Given the description of an element on the screen output the (x, y) to click on. 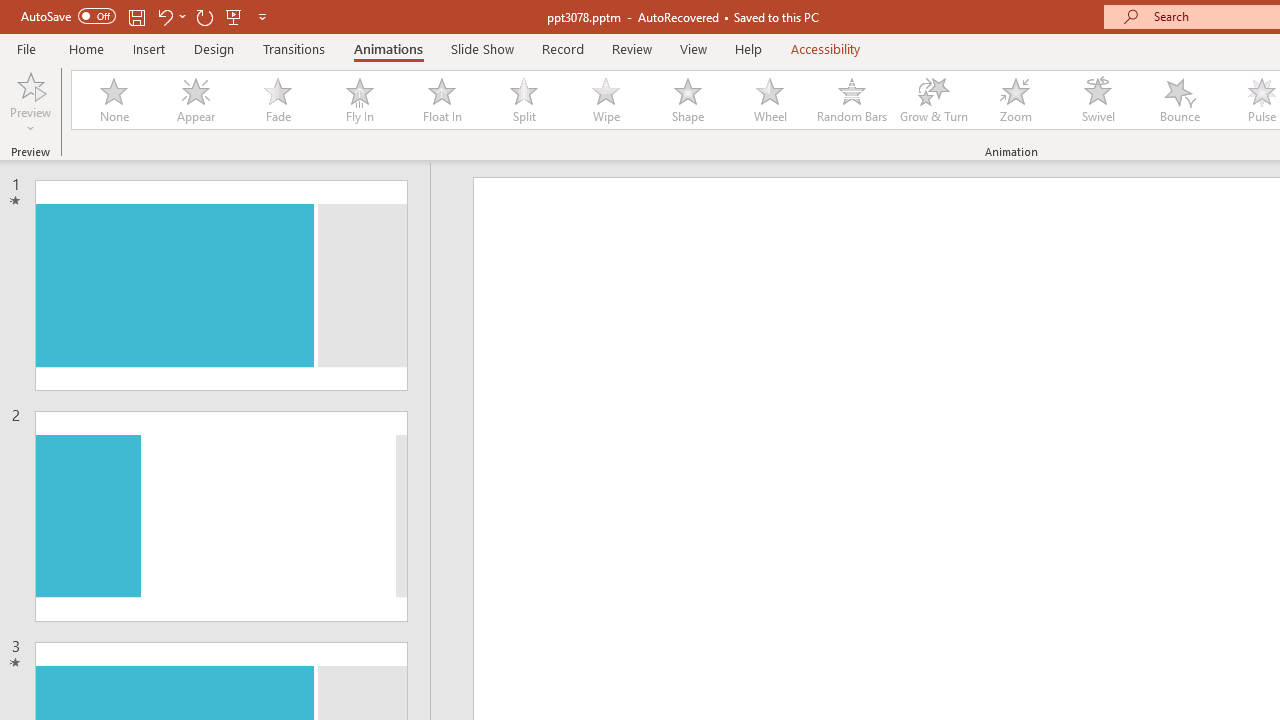
Split (523, 100)
Fade (277, 100)
Appear (195, 100)
Grow & Turn (934, 100)
